Given the description of an element on the screen output the (x, y) to click on. 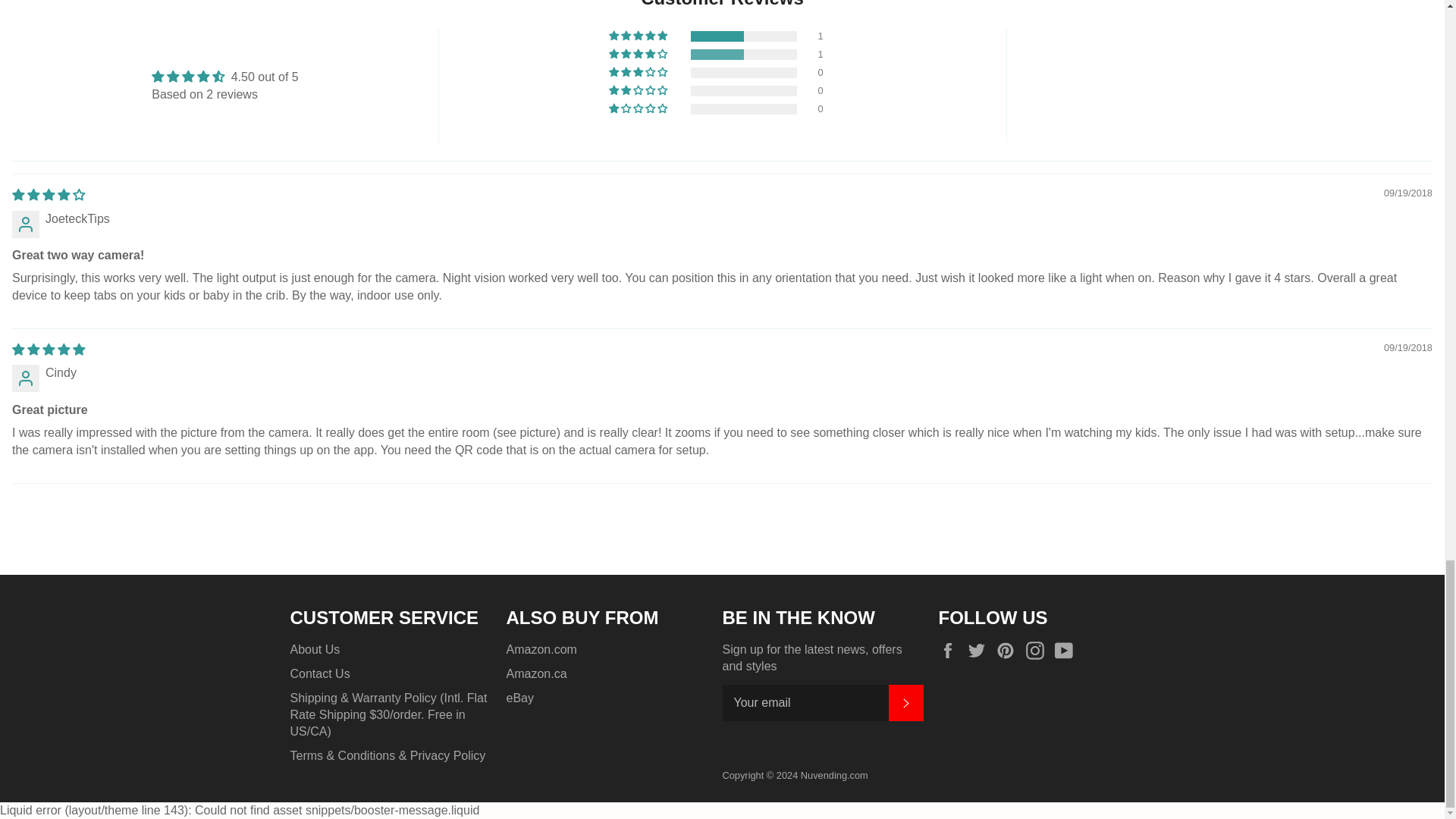
Nuvending.com on Twitter (980, 650)
Nuvending.com on Instagram (1038, 650)
Nuvending.com on YouTube (1067, 650)
Nuvending.com on Pinterest (1008, 650)
Nuvending.com on Facebook (951, 650)
